Given the description of an element on the screen output the (x, y) to click on. 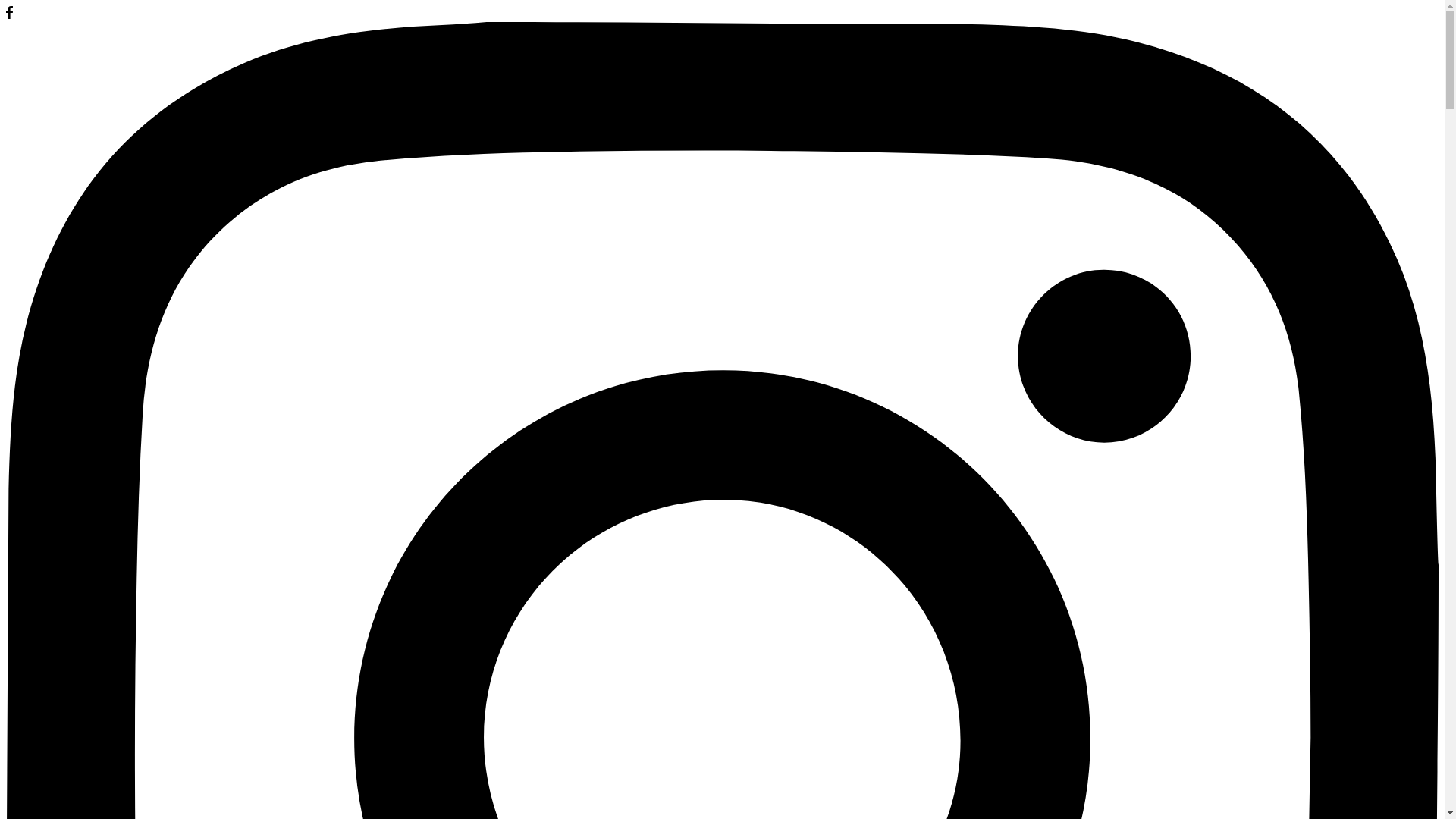
A link to this website's Facebook. Element type: hover (9, 14)
